Given the description of an element on the screen output the (x, y) to click on. 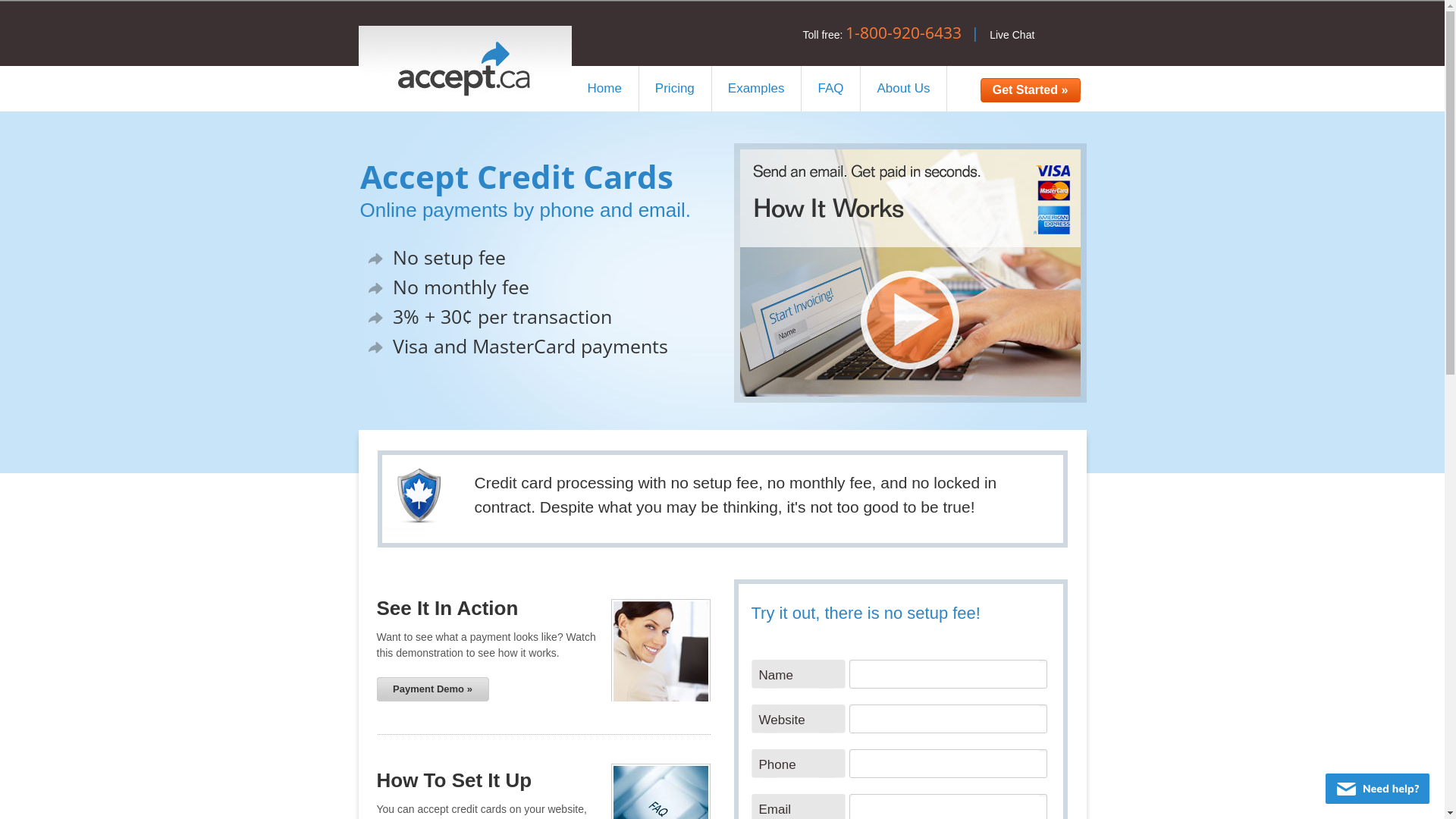
Live chat offline Element type: hover (1377, 788)
Home Element type: text (605, 88)
FAQ Element type: text (830, 88)
Examples Element type: text (757, 88)
About Us Element type: text (903, 88)
Pricing Element type: text (675, 88)
